Given the description of an element on the screen output the (x, y) to click on. 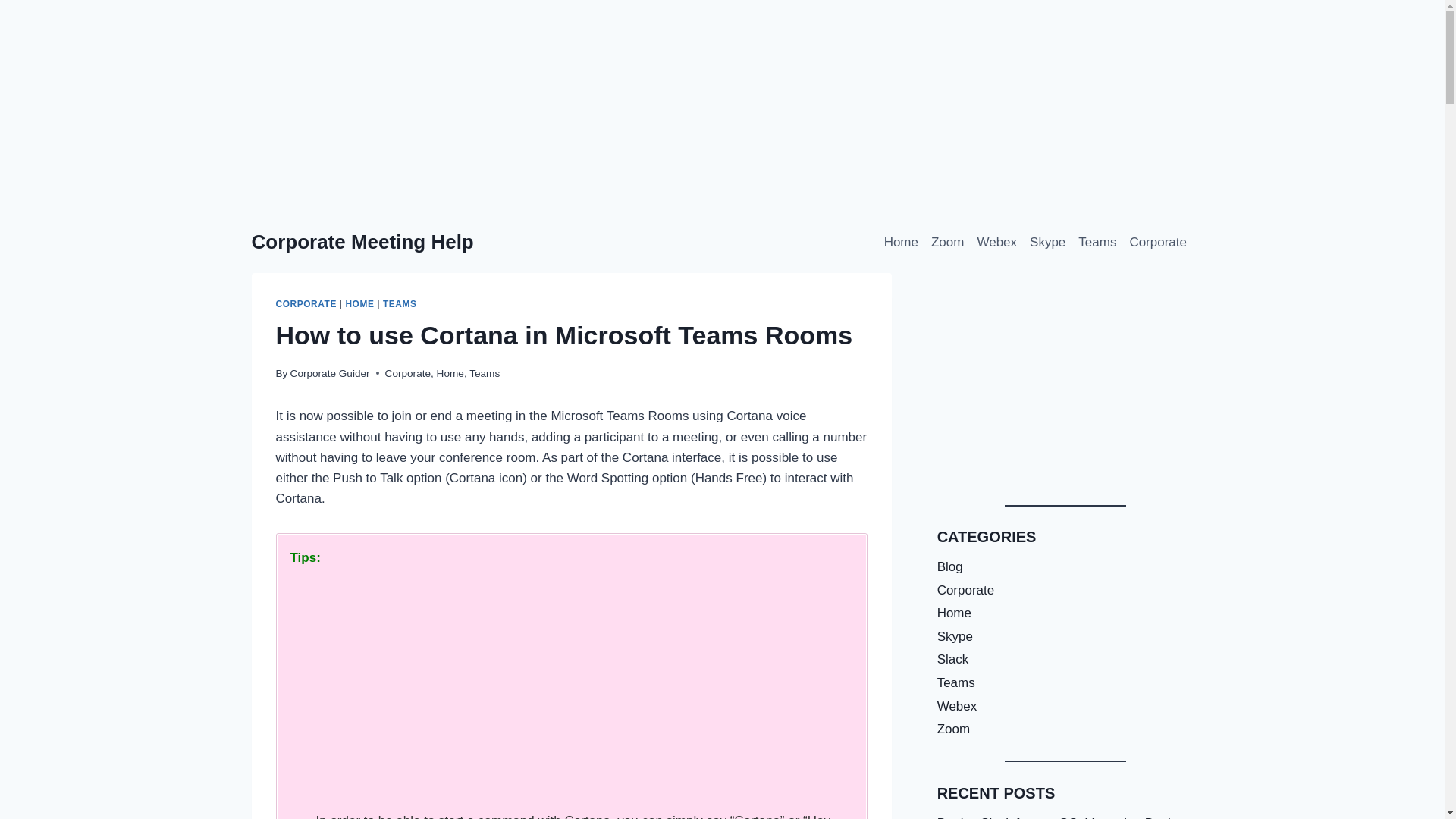
Teams (1096, 242)
Home (450, 373)
Zoom (946, 242)
Webex (997, 242)
HOME (359, 303)
Corporate Meeting Help (362, 241)
Corporate (407, 373)
Corporate Guider (329, 373)
Home (900, 242)
Advertisement (571, 698)
Skype (1047, 242)
CORPORATE (306, 303)
Teams (483, 373)
Corporate (1157, 242)
